Given the description of an element on the screen output the (x, y) to click on. 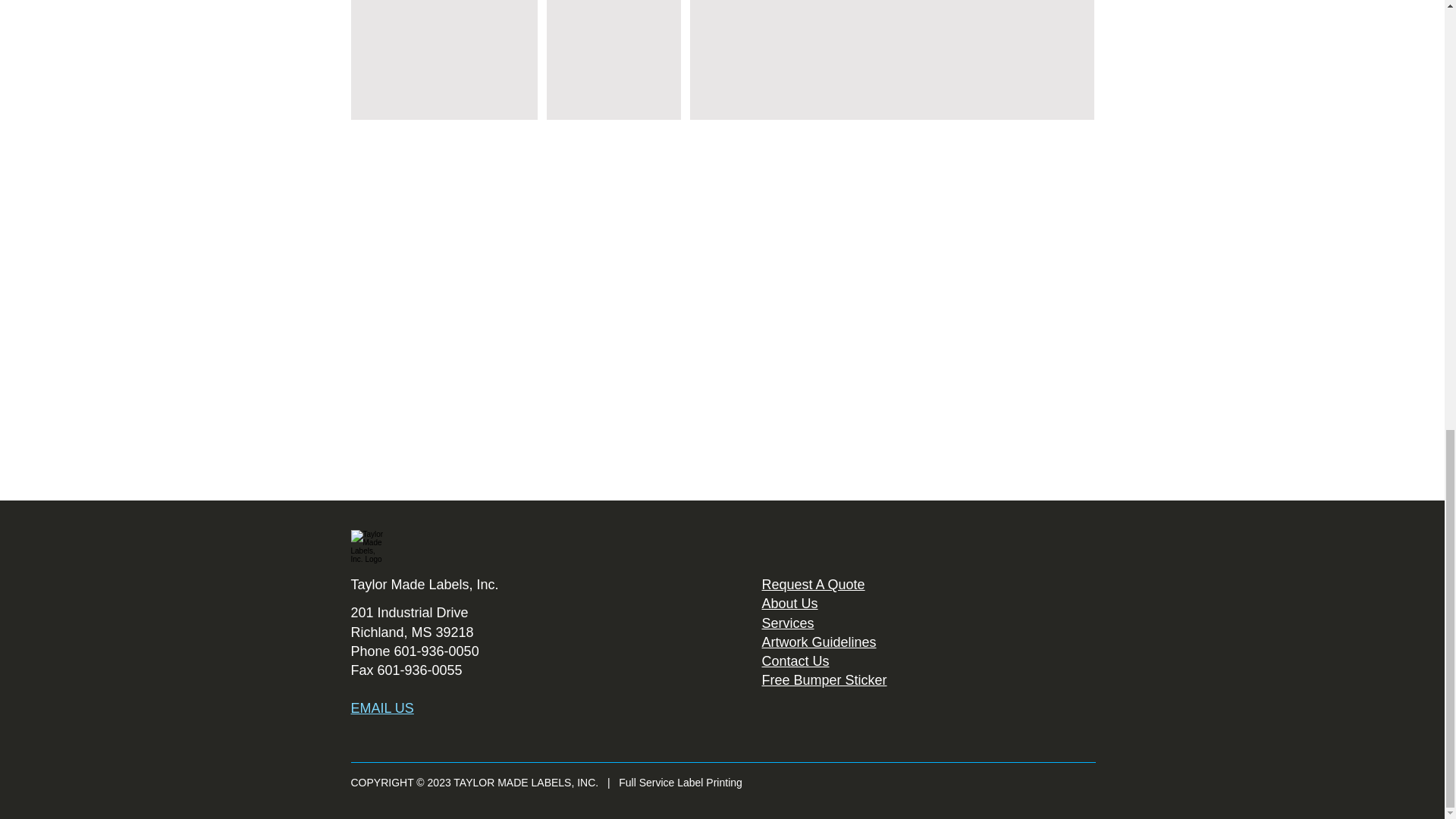
Request A Quote (812, 584)
EMAIL US (381, 708)
Services (787, 622)
Free Bumper Sticker (823, 679)
Contact Us (794, 661)
About Us (788, 603)
Taylor Made Labels, Inc. (423, 584)
Artwork Guidelines (818, 642)
